Given the description of an element on the screen output the (x, y) to click on. 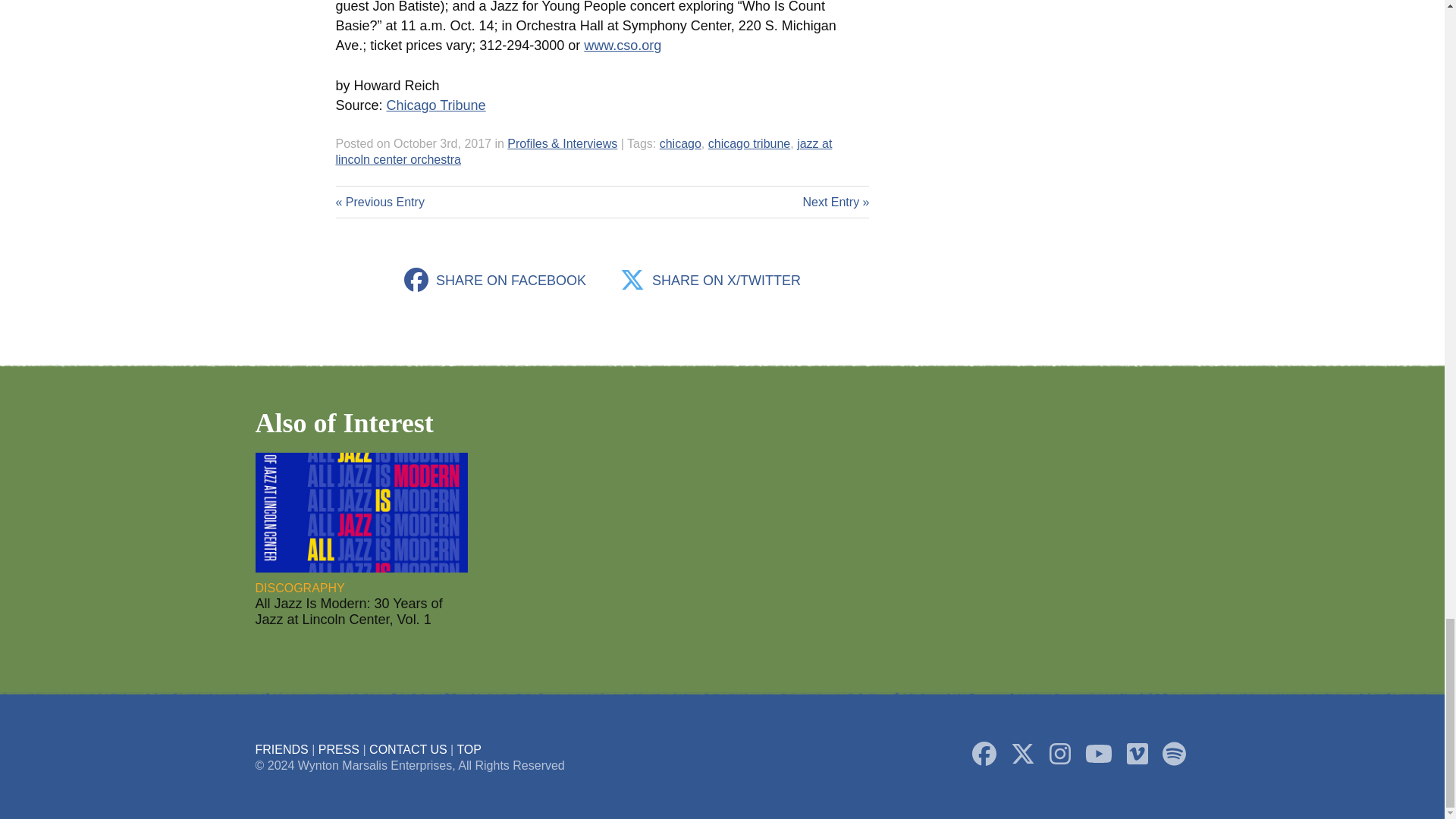
FACEBOOK (416, 279)
Spotify (1173, 753)
Share via Facebook (495, 280)
YouTube (1098, 753)
Facebook (983, 753)
